Given the description of an element on the screen output the (x, y) to click on. 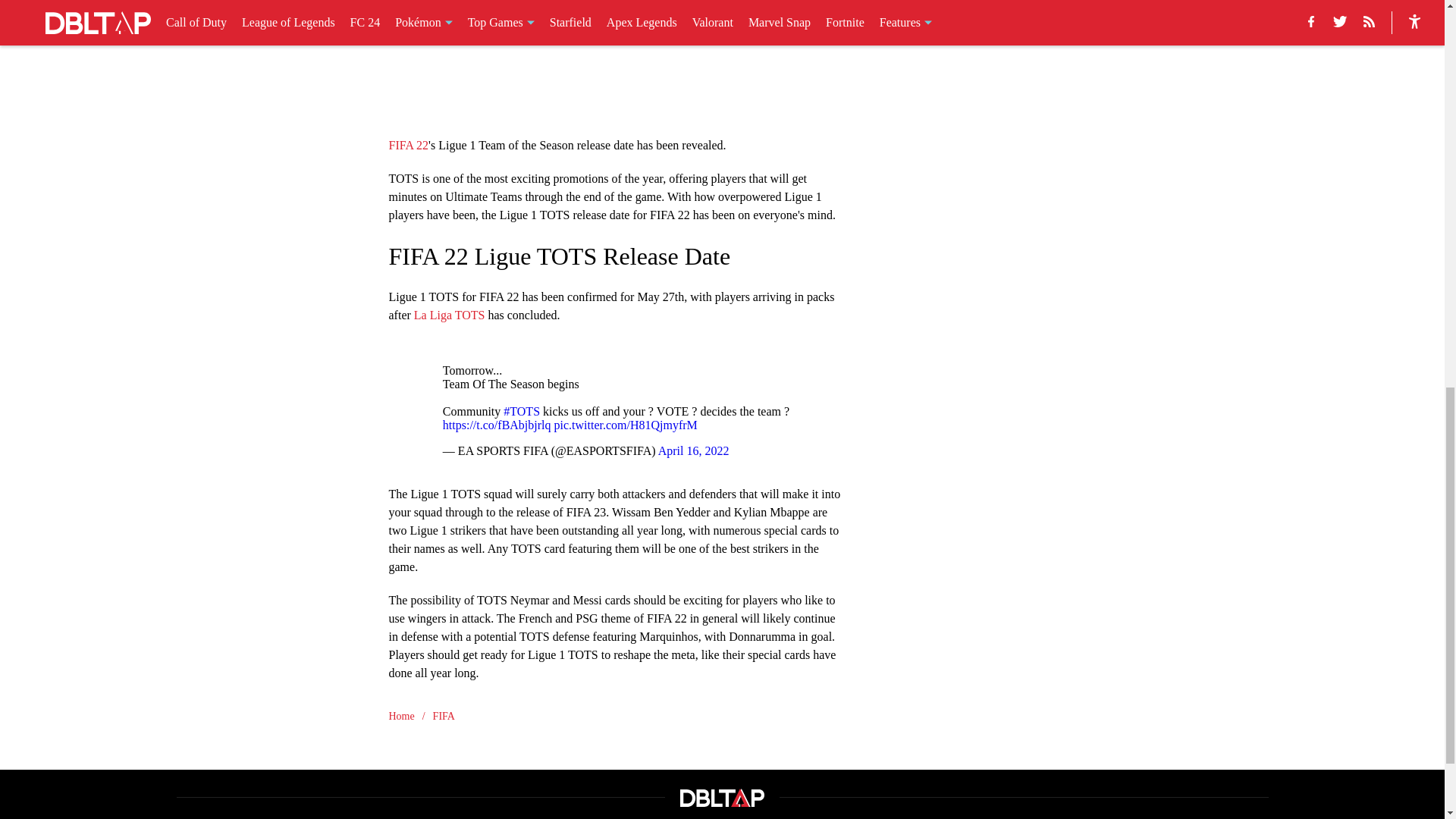
La Liga TOTS (448, 314)
FIFA 22 (408, 144)
Home (400, 715)
FIFA (443, 715)
April 16, 2022 (693, 450)
